Given the description of an element on the screen output the (x, y) to click on. 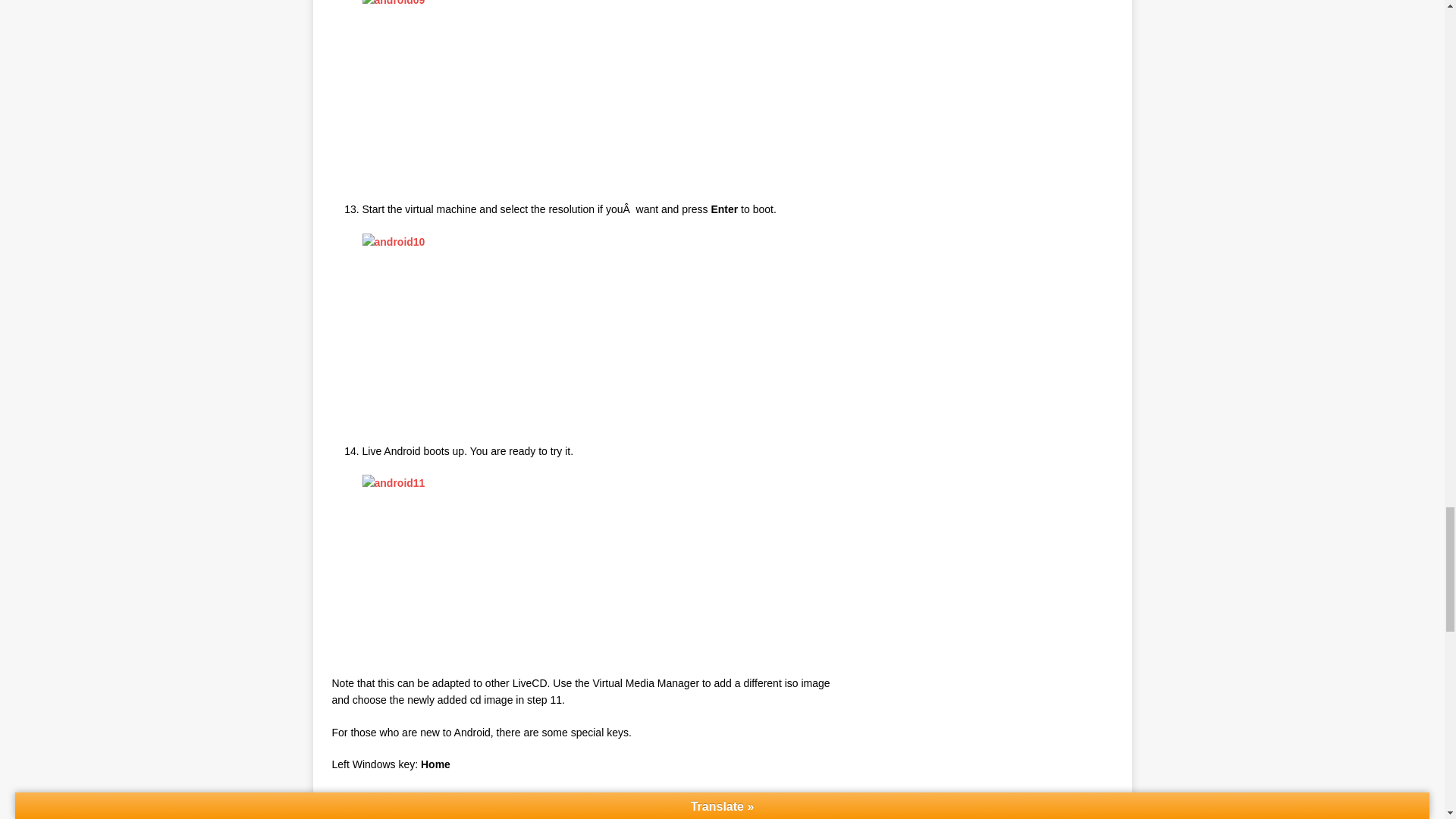
android09 (475, 92)
